Given the description of an element on the screen output the (x, y) to click on. 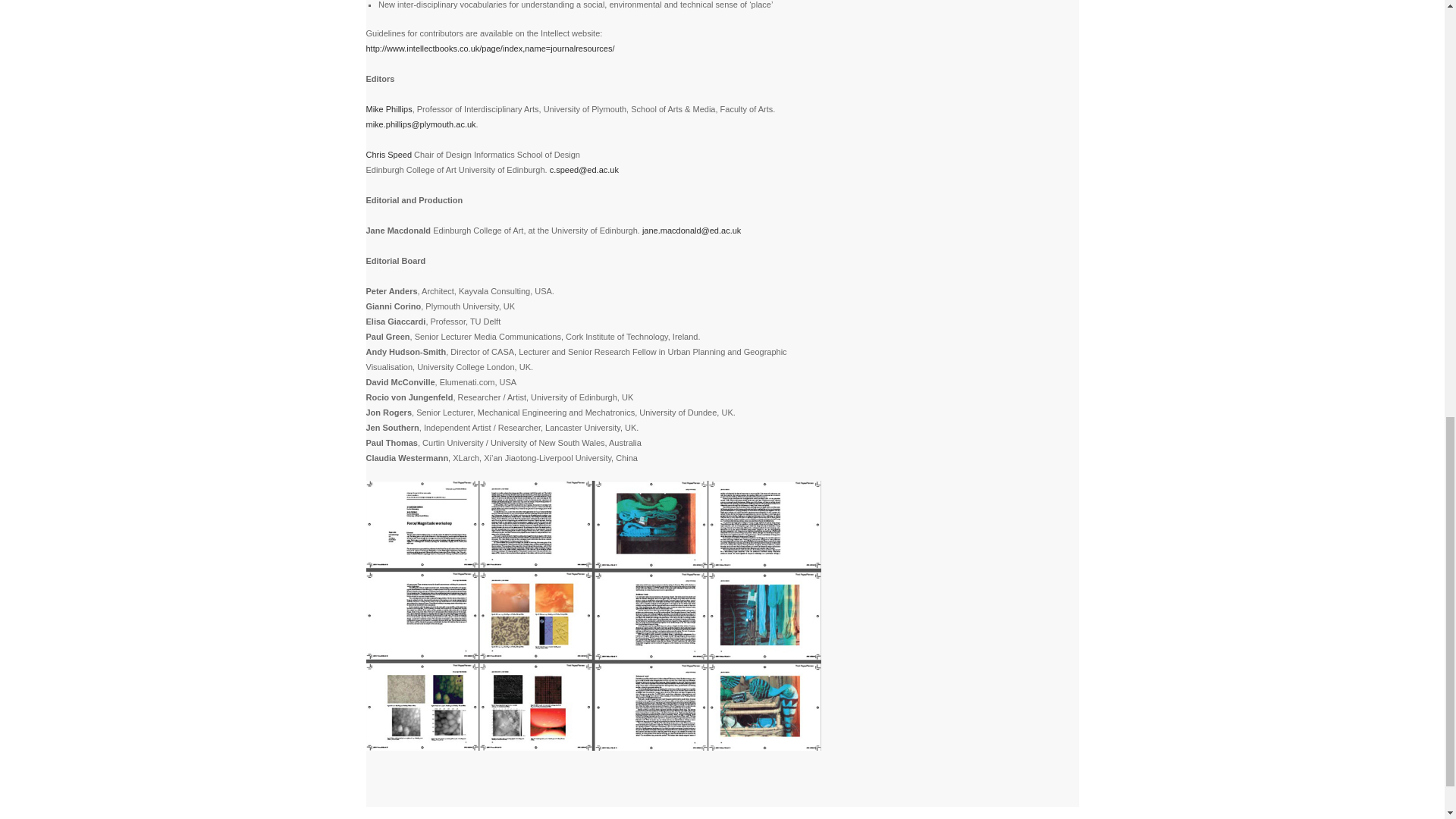
Chris Speed (388, 153)
articles (593, 615)
Mike Phillips (388, 108)
Mike Phillips (388, 108)
